Given the description of an element on the screen output the (x, y) to click on. 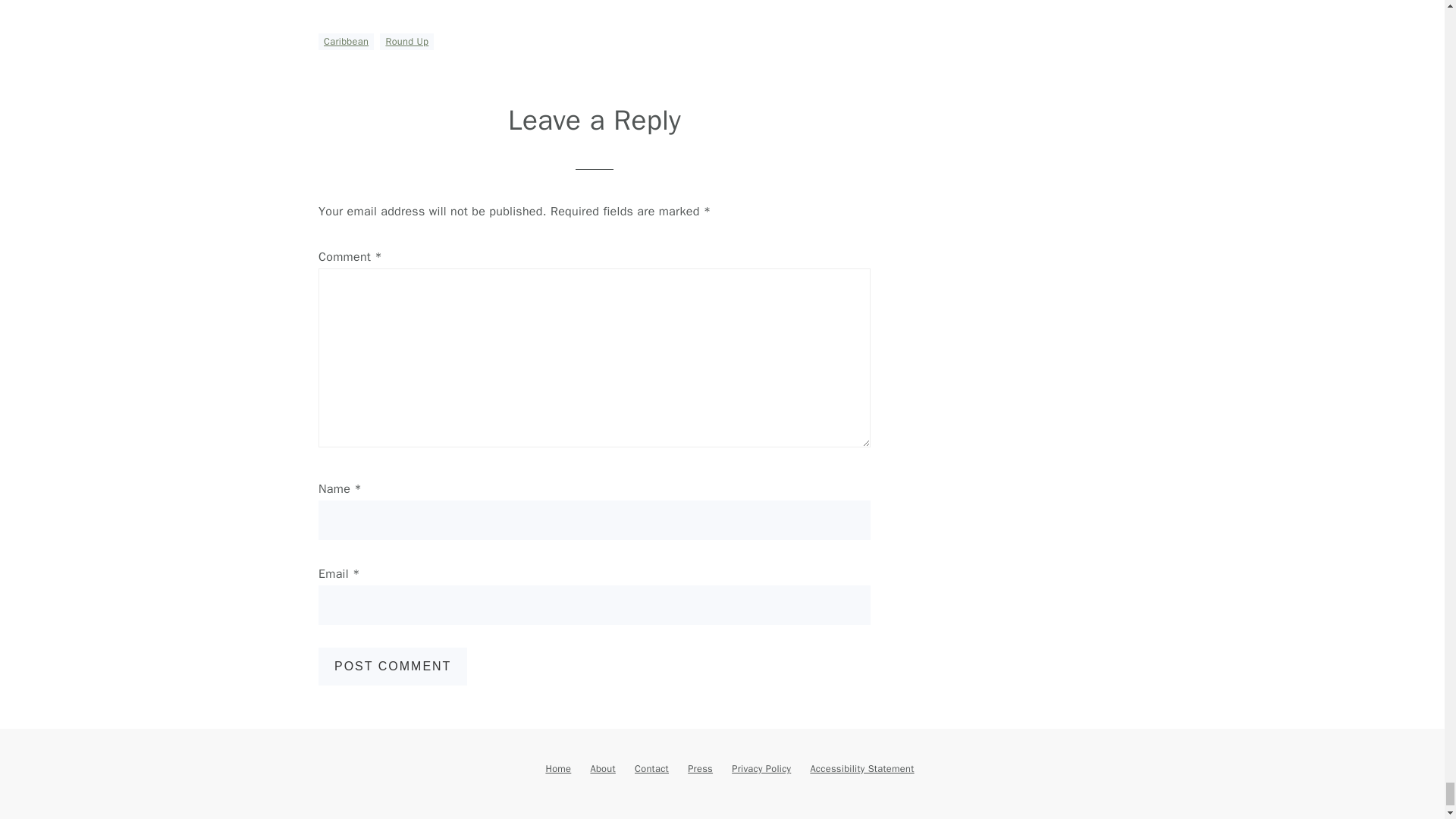
Post Comment (392, 666)
